Given the description of an element on the screen output the (x, y) to click on. 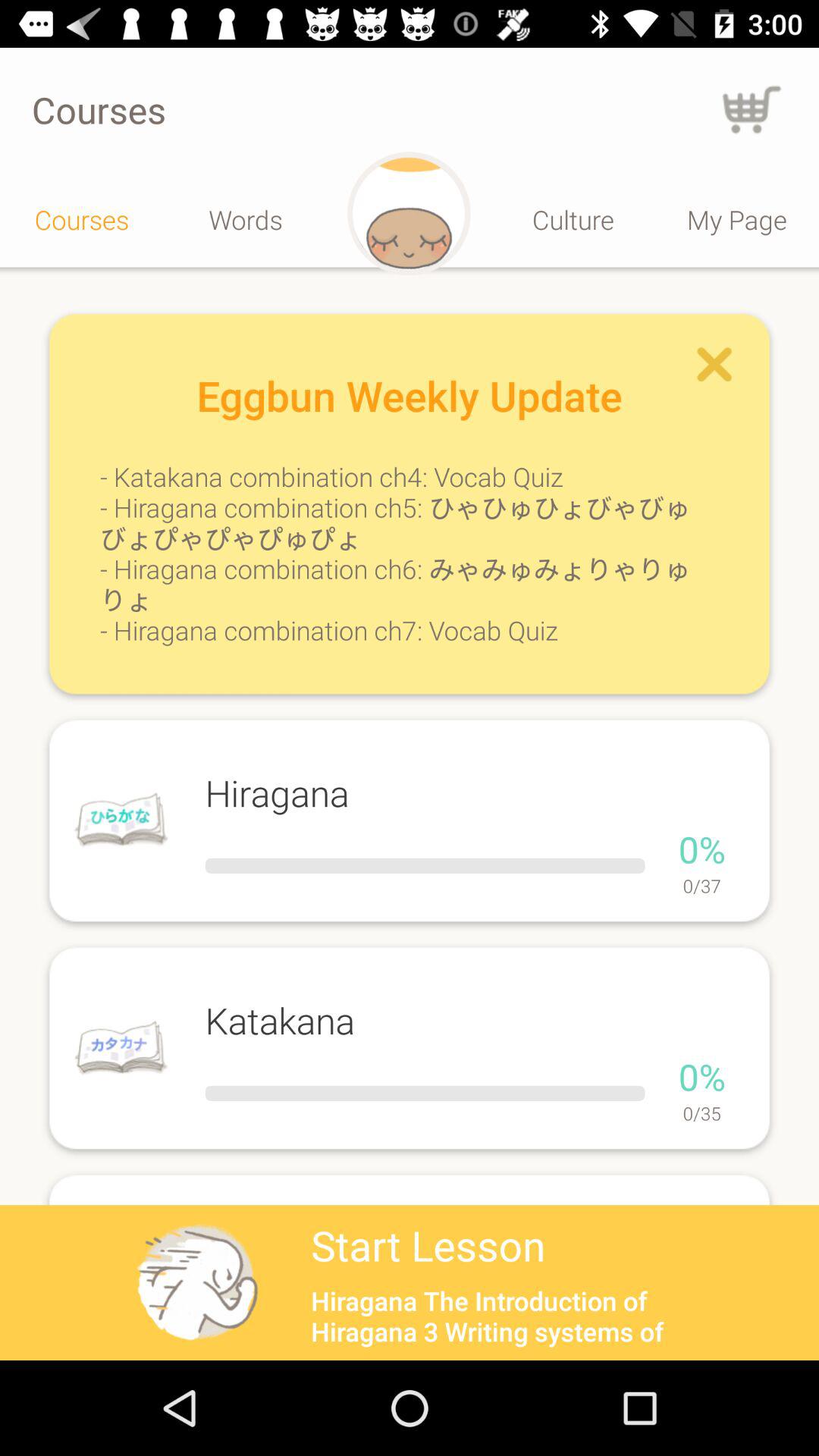
cancel (714, 364)
